Given the description of an element on the screen output the (x, y) to click on. 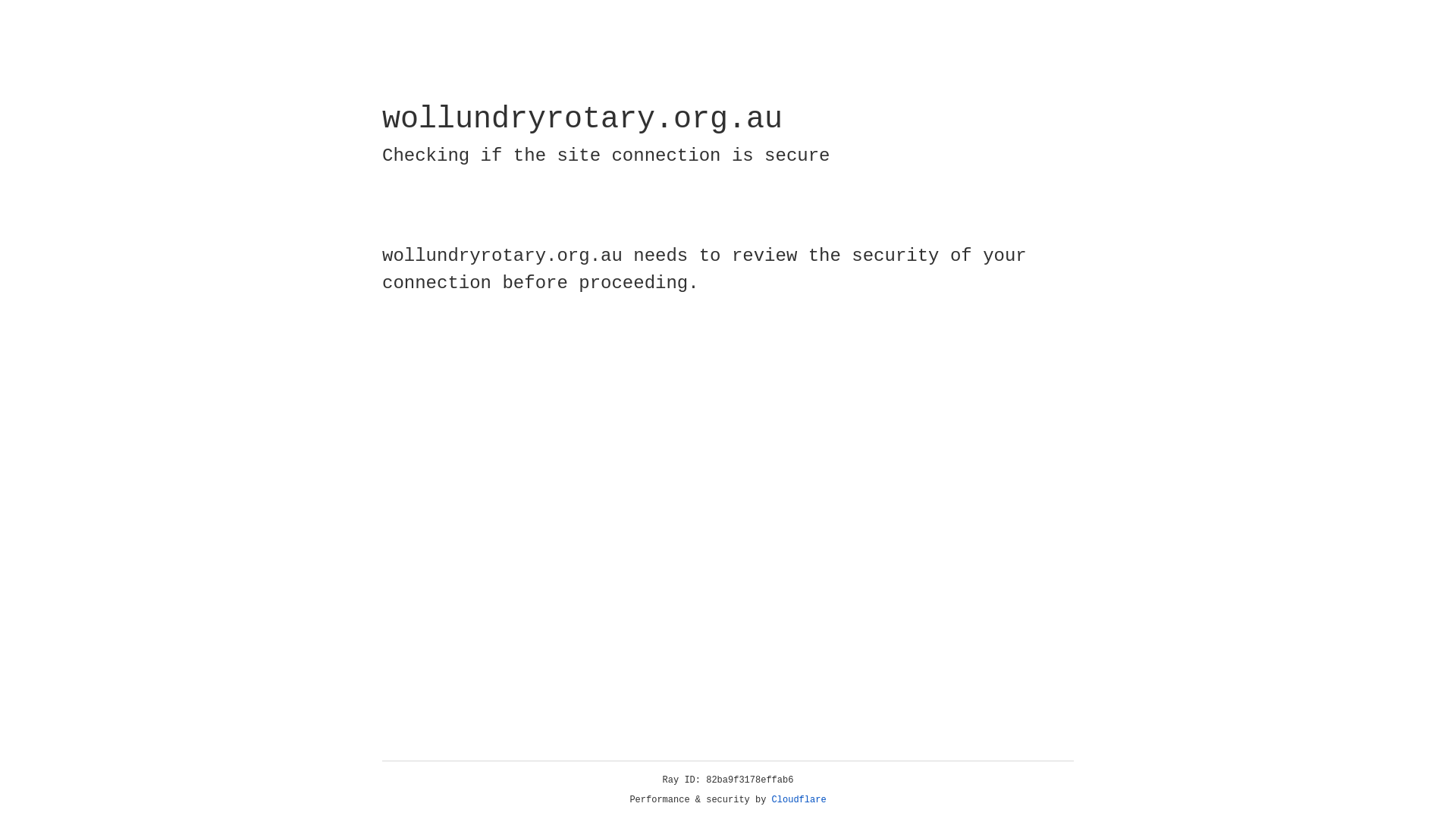
Cloudflare Element type: text (798, 799)
